Given the description of an element on the screen output the (x, y) to click on. 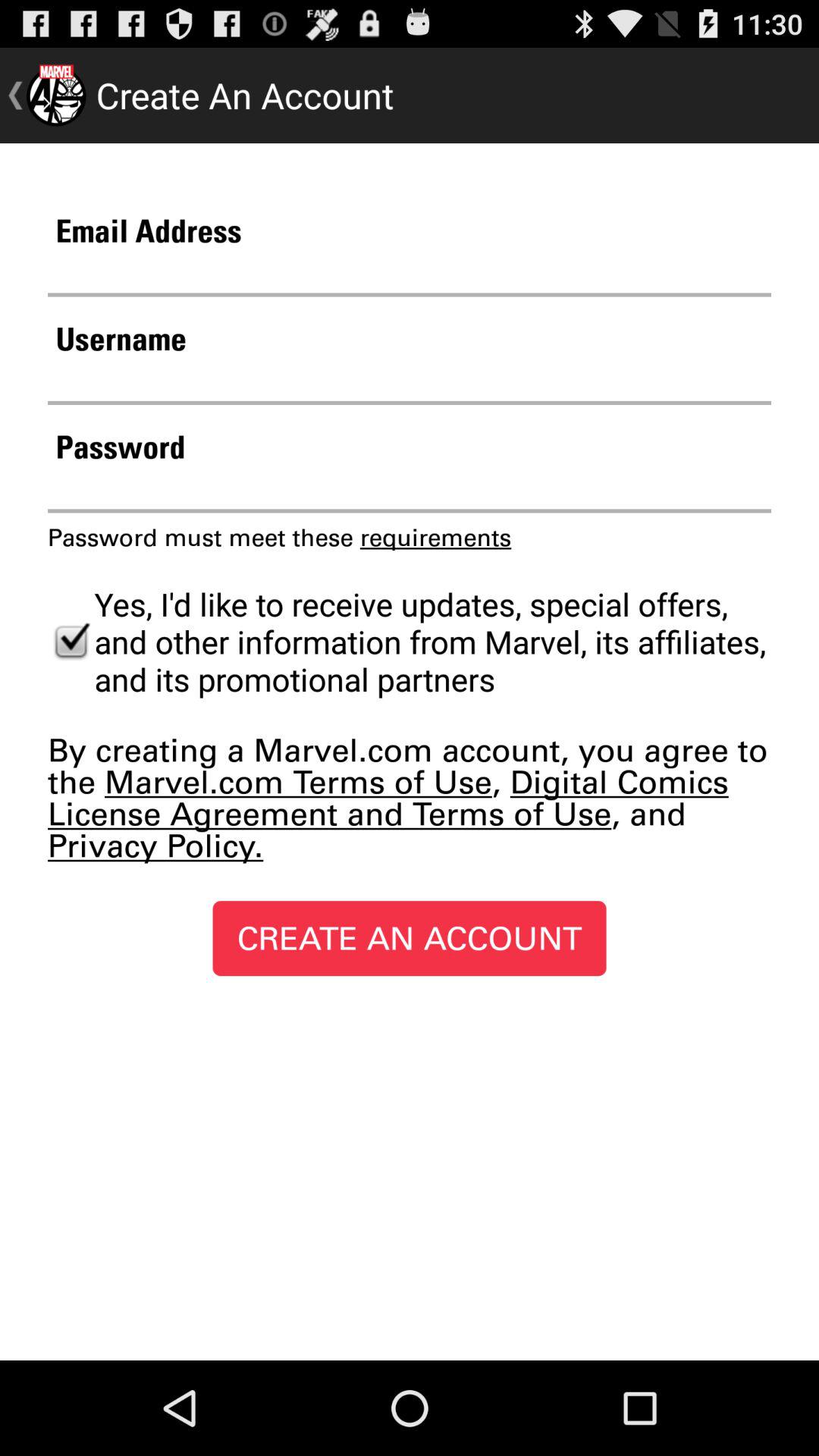
enter email (409, 273)
